Given the description of an element on the screen output the (x, y) to click on. 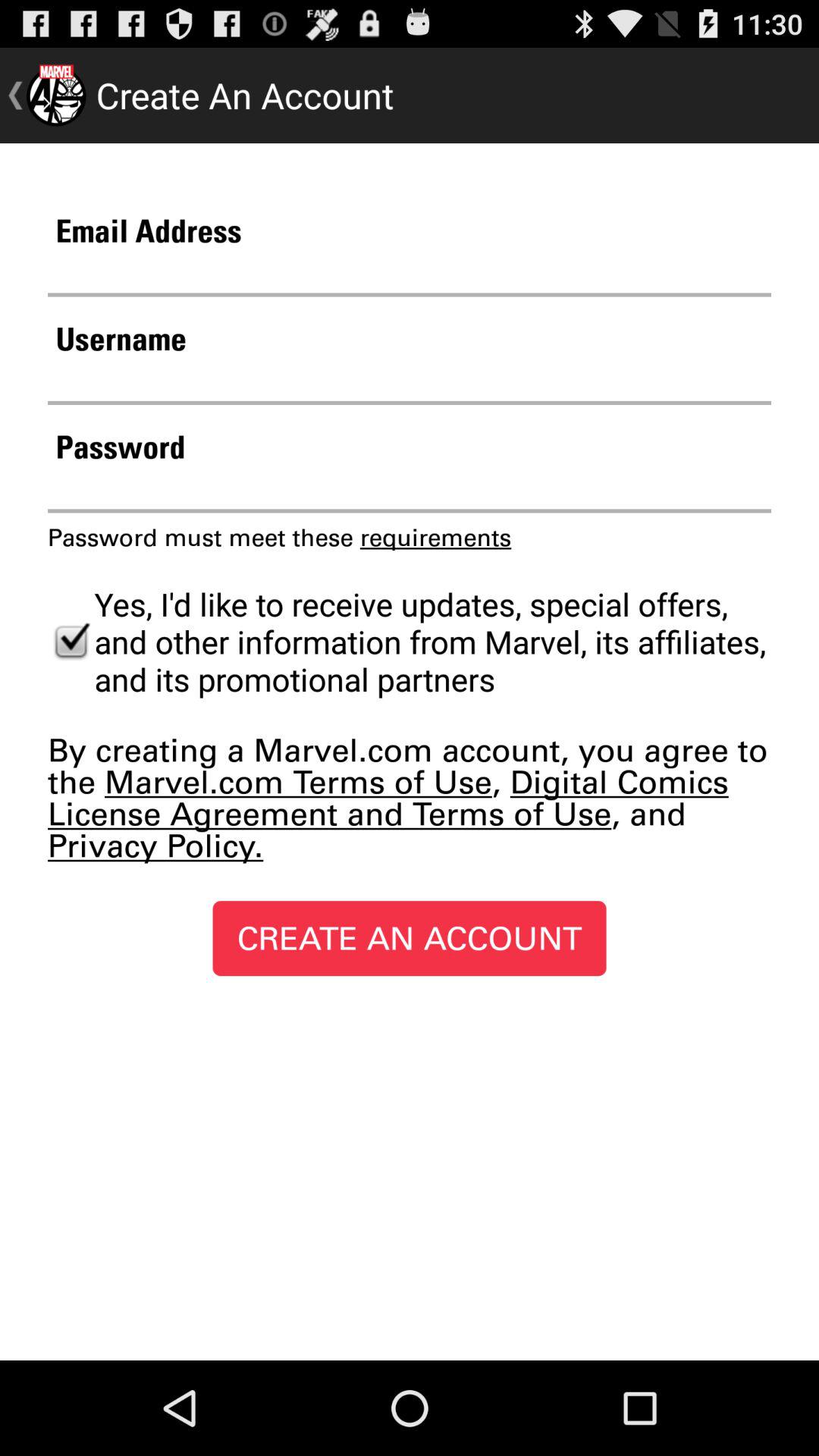
enter email (409, 273)
